Given the description of an element on the screen output the (x, y) to click on. 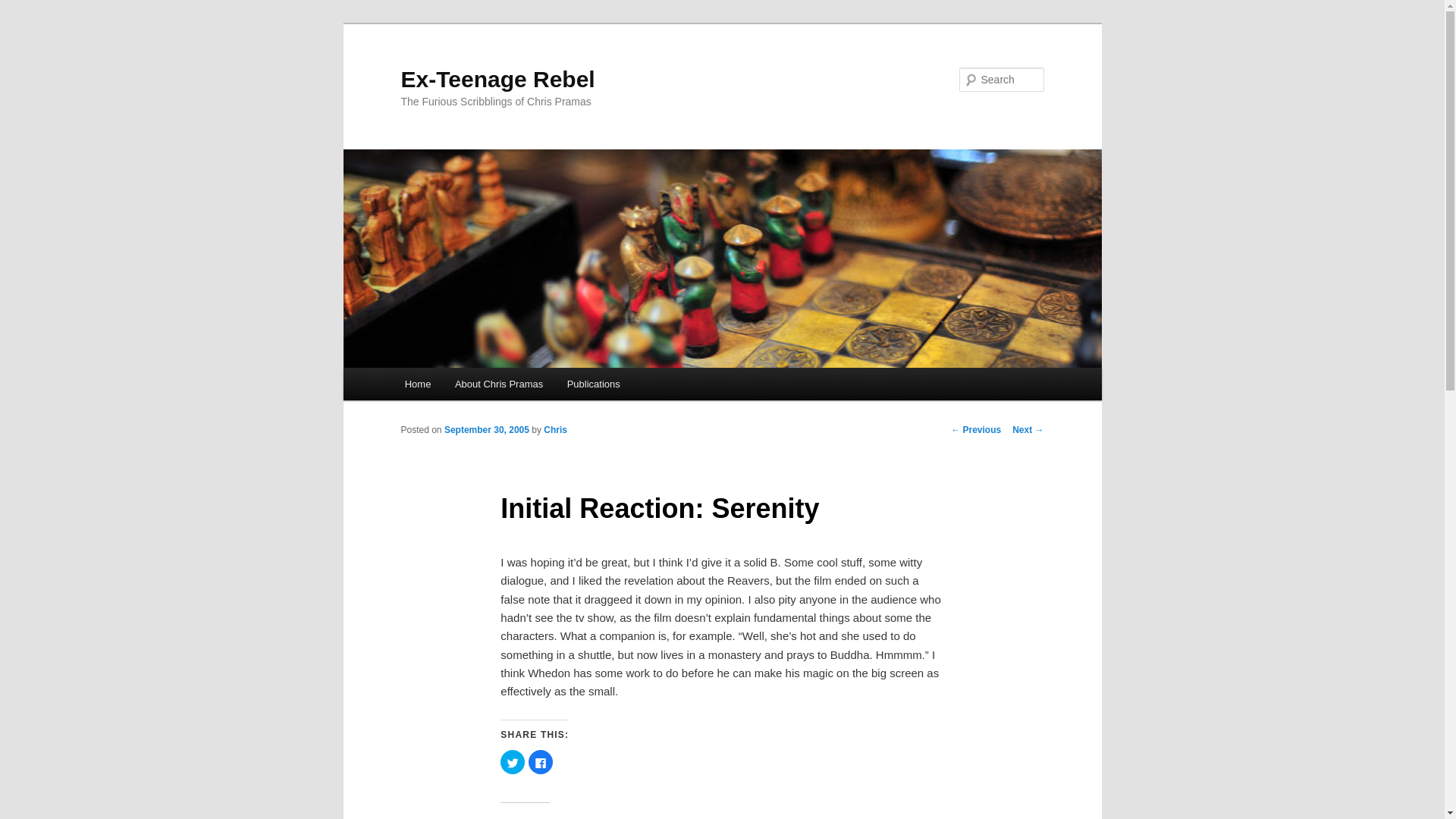
Home (417, 383)
Click to share on Facebook (540, 761)
Click to share on Twitter (512, 761)
Publications (592, 383)
Chris (555, 429)
Ex-Teenage Rebel (497, 78)
September 30, 2005 (486, 429)
11:57 pm (486, 429)
About Chris Pramas (498, 383)
